Given the description of an element on the screen output the (x, y) to click on. 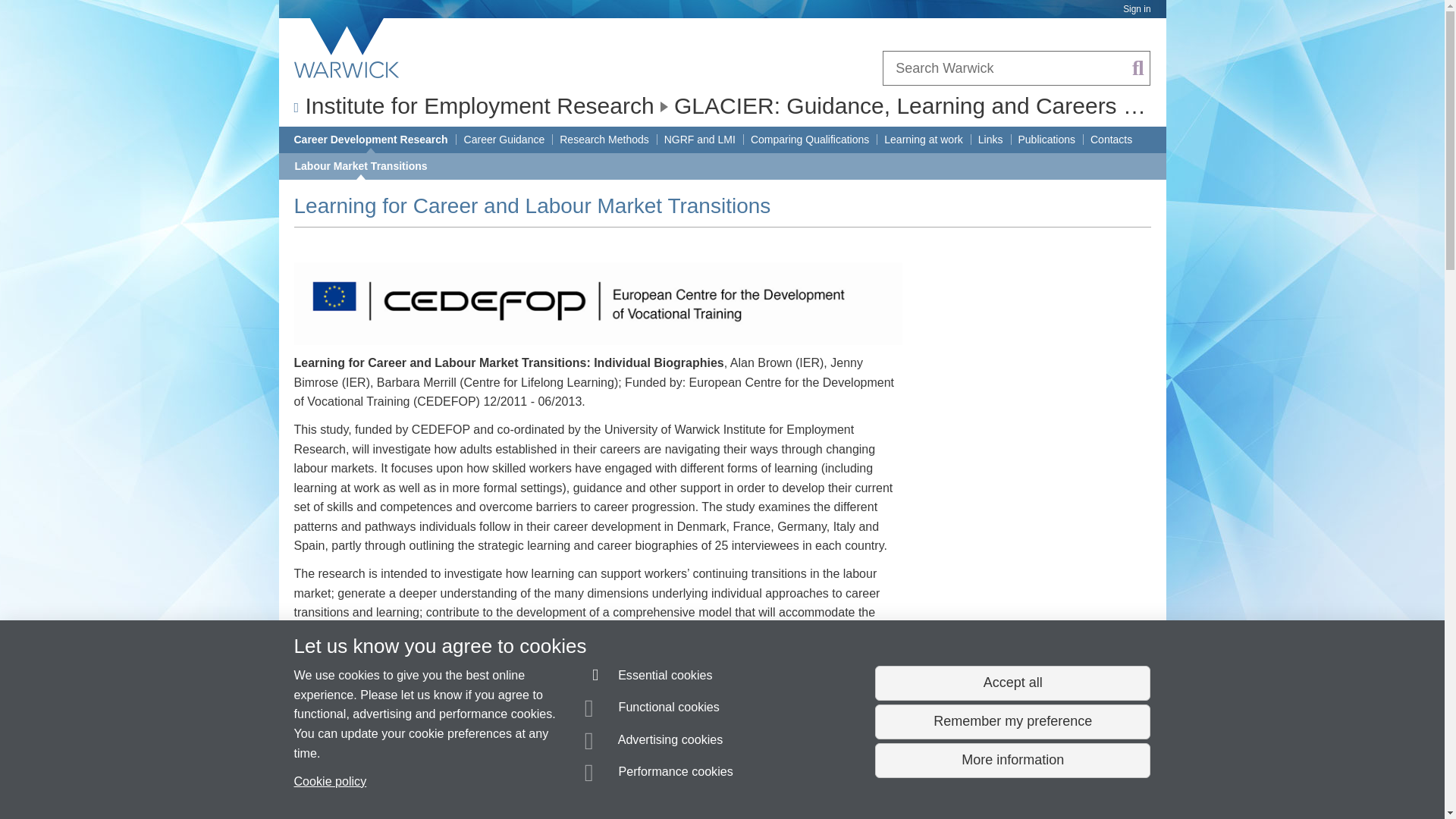
Career Development Research (371, 139)
Institute for Employment Research home page (478, 105)
NGRF and LMI (699, 139)
Essential cookies are always on (649, 677)
Comparing Qualifications (810, 139)
University of Warwick homepage (346, 48)
GLACIER: Guidance, Learning and Careers at IER (930, 105)
Career Guidance (504, 139)
